Given the description of an element on the screen output the (x, y) to click on. 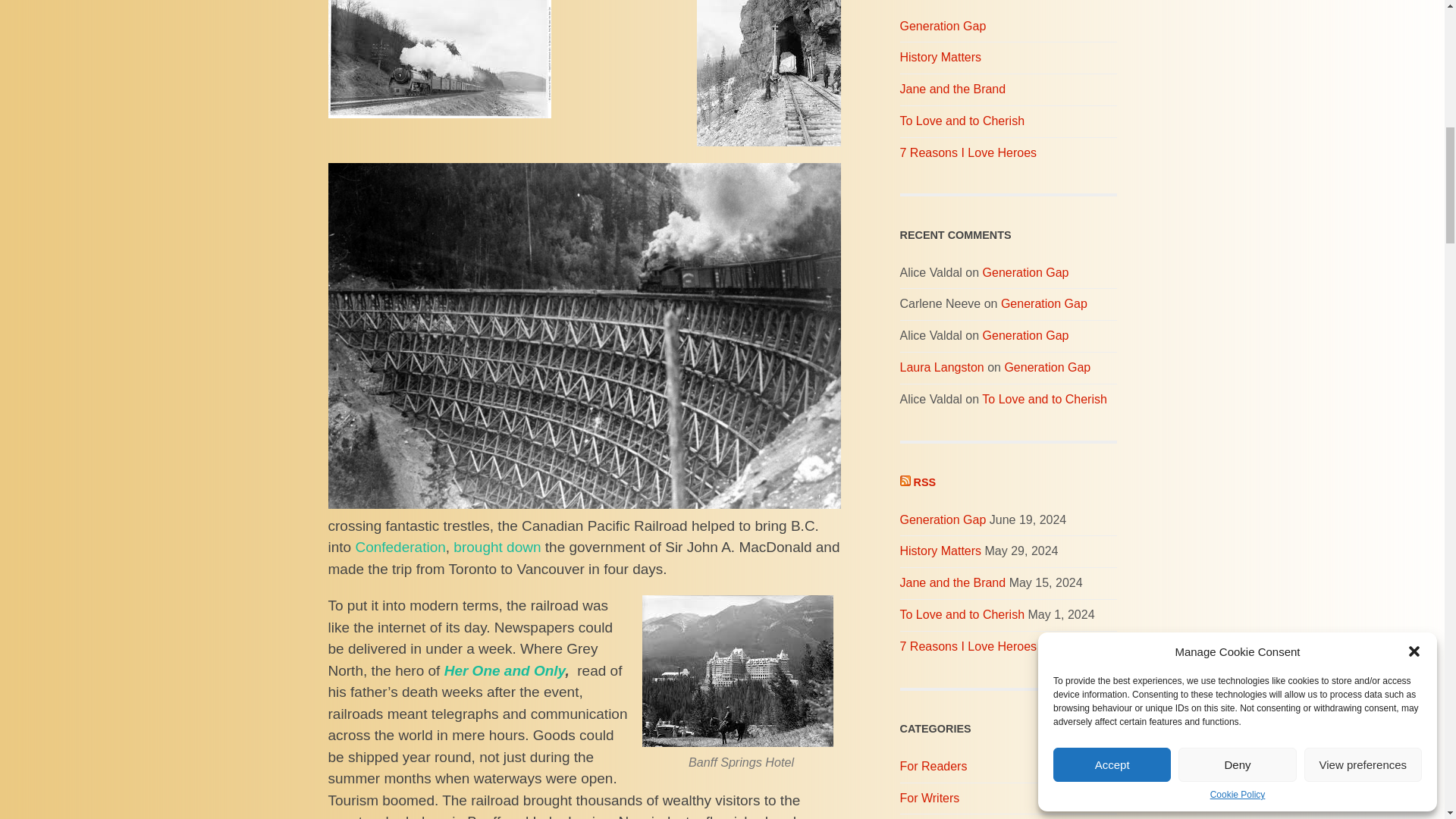
Confederation (400, 546)
brought down (496, 546)
Her One and Only (505, 670)
